Given the description of an element on the screen output the (x, y) to click on. 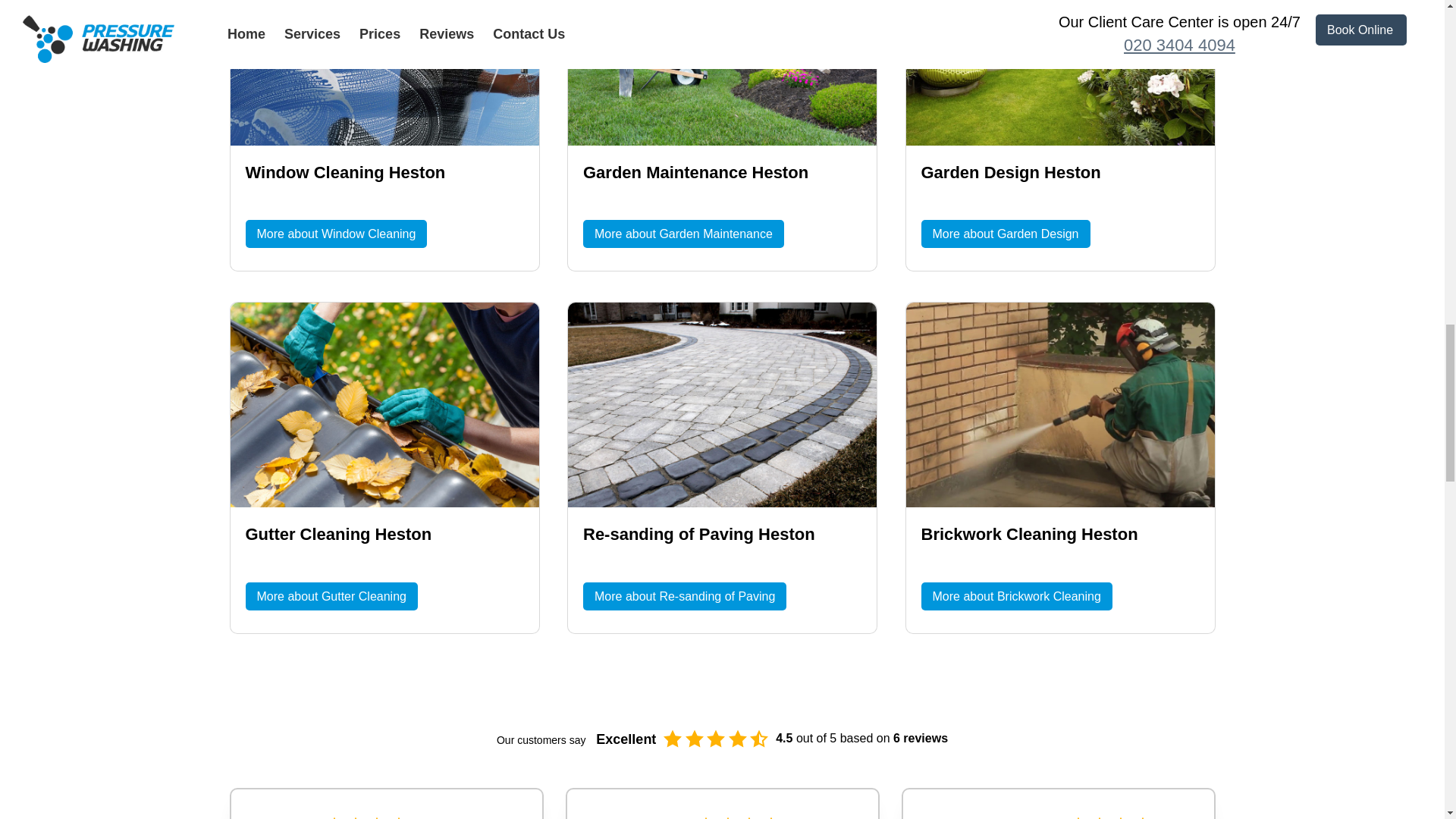
More about Window Cleaning (337, 234)
More about Garden Design (1004, 234)
More about Brickwork Cleaning (1016, 596)
More about Re-sanding of Paving (684, 596)
More about Gutter Cleaning (331, 596)
More about Garden Maintenance (683, 234)
